Given the description of an element on the screen output the (x, y) to click on. 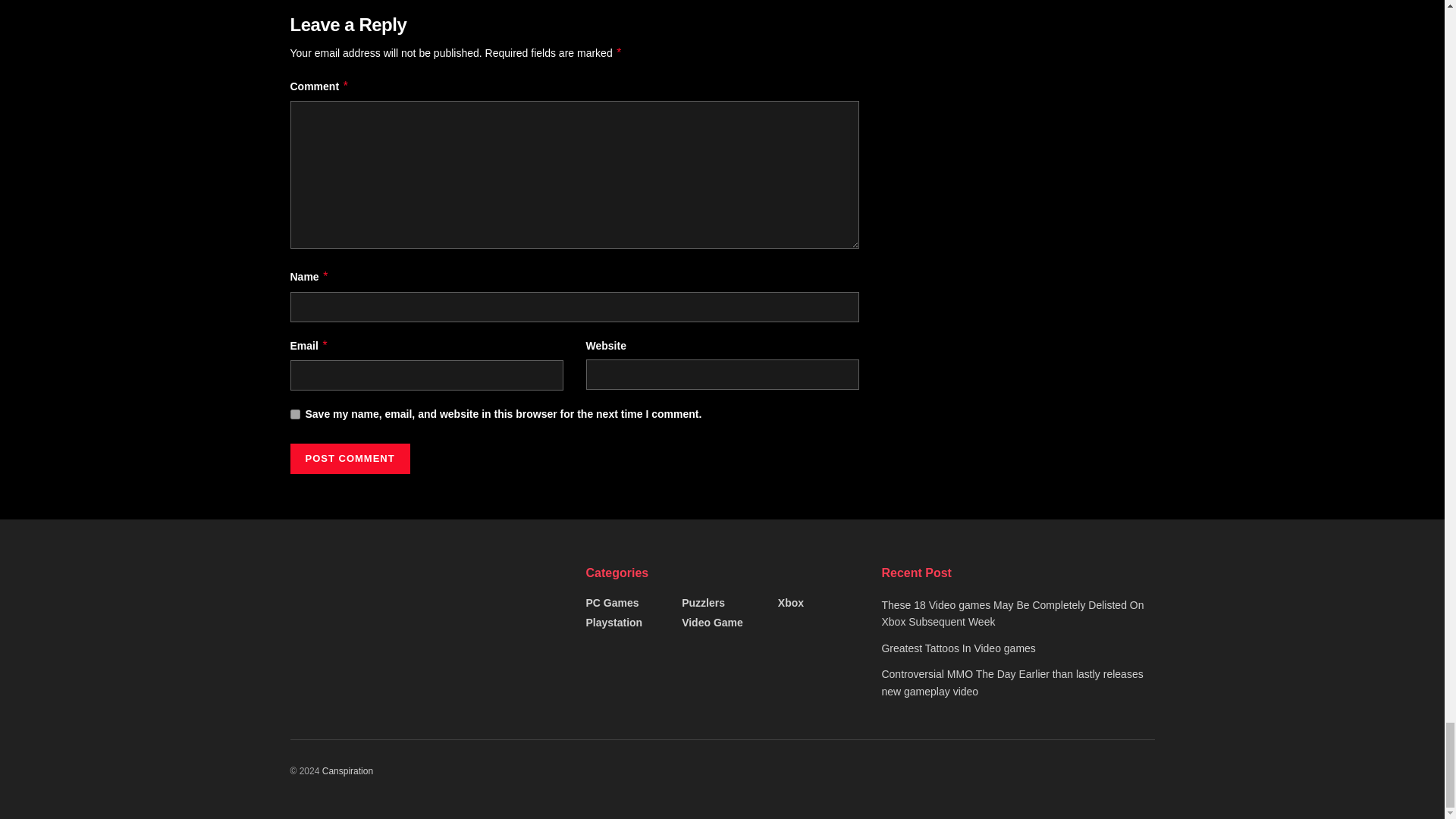
Post Comment (349, 458)
yes (294, 414)
